Given the description of an element on the screen output the (x, y) to click on. 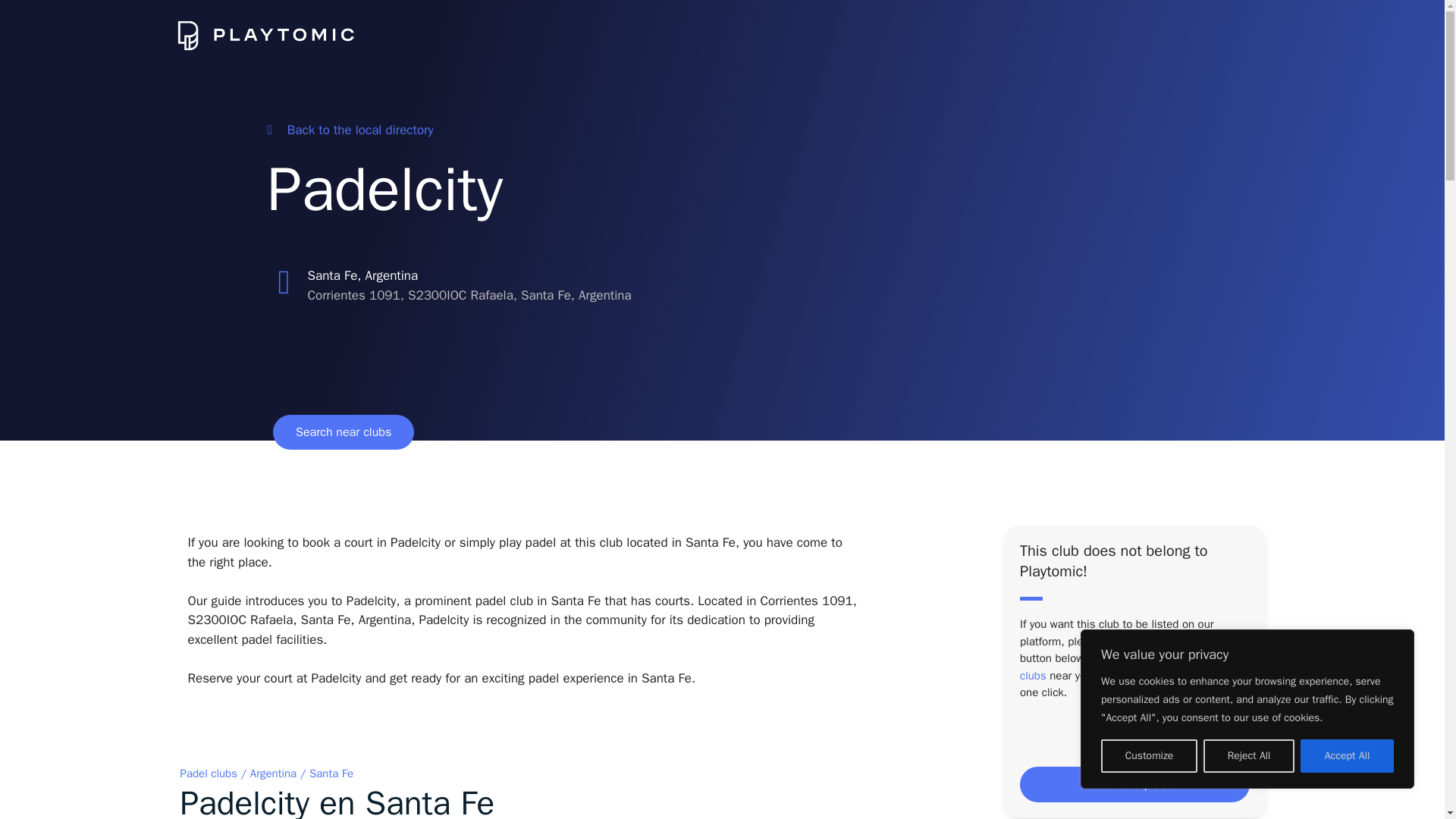
Back to the local directory (349, 130)
Reject All (1249, 756)
Customize (1148, 756)
Padel clubs (208, 773)
search for other clubs (1128, 666)
Santa Fe (330, 773)
Accept All (1346, 756)
Argentina (273, 773)
Send request (1134, 784)
Search near clubs (343, 431)
